Given the description of an element on the screen output the (x, y) to click on. 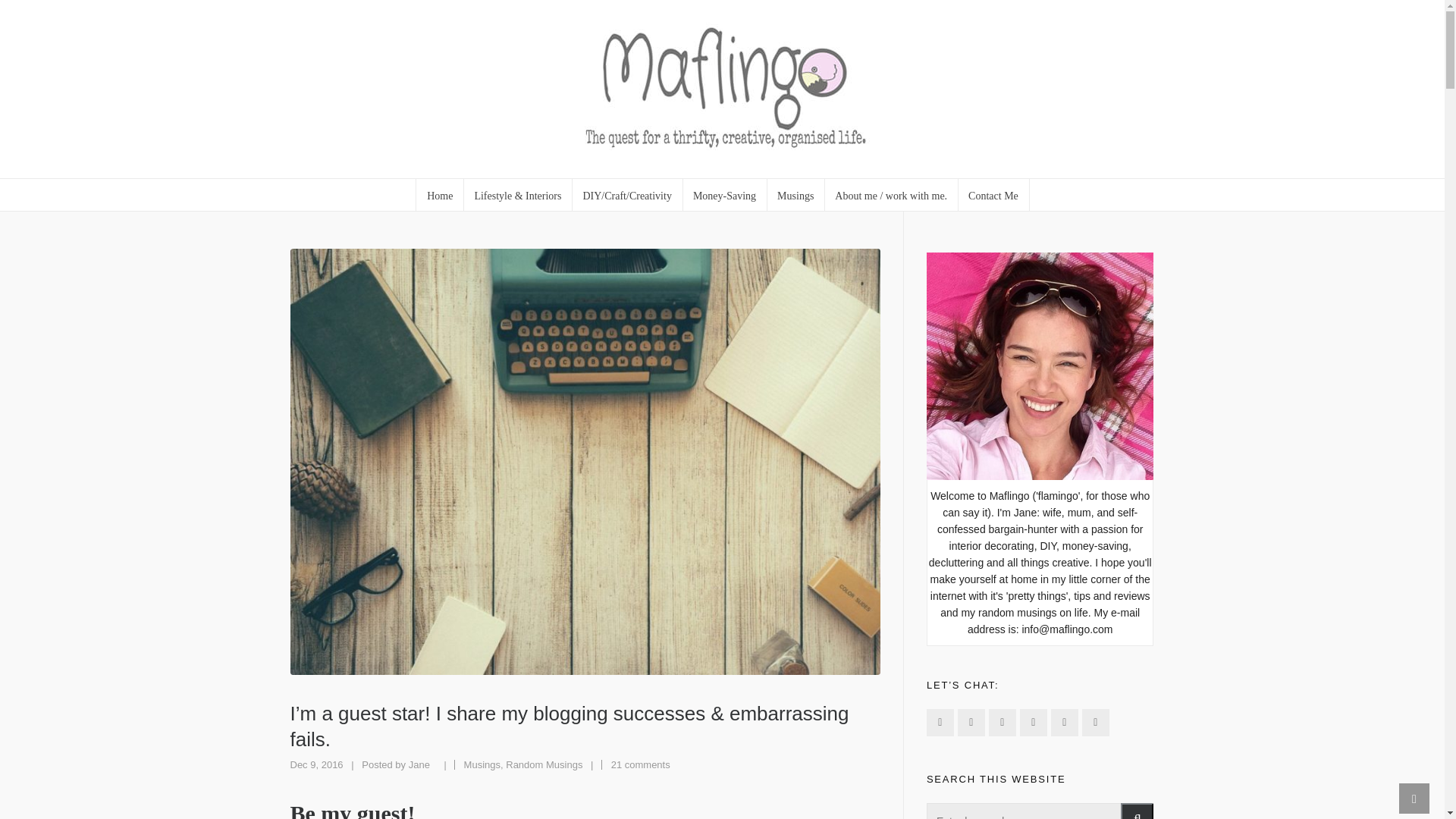
Jane (419, 764)
View all posts in Random Musings (543, 764)
Random Musings (543, 764)
View all posts in Musings (482, 764)
Posts by Jane (419, 764)
Money-Saving (724, 194)
Contact Me (993, 194)
21 comments (640, 764)
Home (439, 194)
Musings (796, 194)
